Given the description of an element on the screen output the (x, y) to click on. 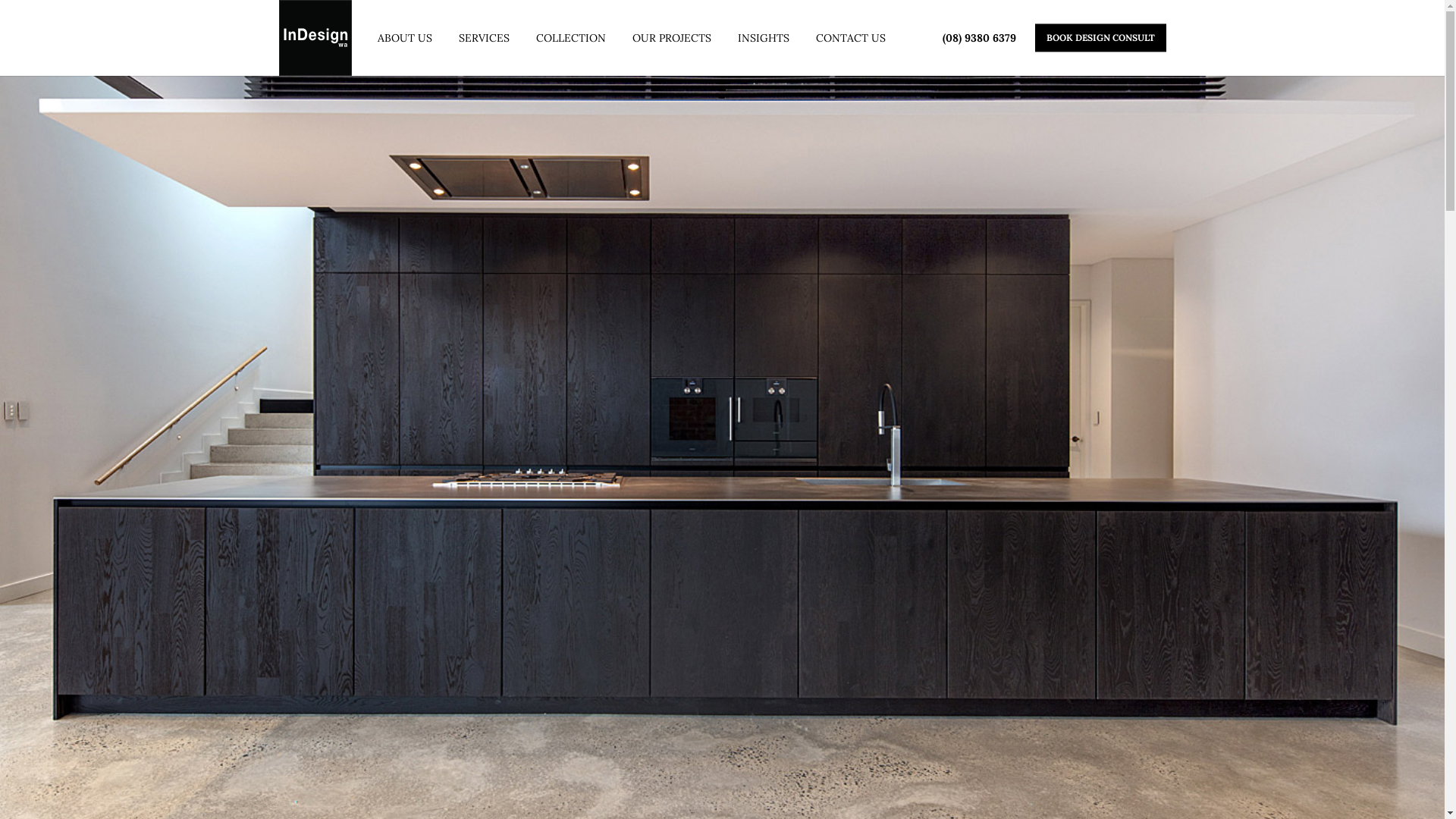
INSIGHTS Element type: text (762, 37)
ABOUT US Element type: text (404, 37)
COLLECTION Element type: text (570, 37)
(08) 9380 6379 Element type: text (978, 37)
SERVICES Element type: text (483, 37)
BOOK DESIGN CONSULT Element type: text (1099, 37)
OUR PROJECTS Element type: text (671, 37)
CONTACT US Element type: text (850, 37)
